Given the description of an element on the screen output the (x, y) to click on. 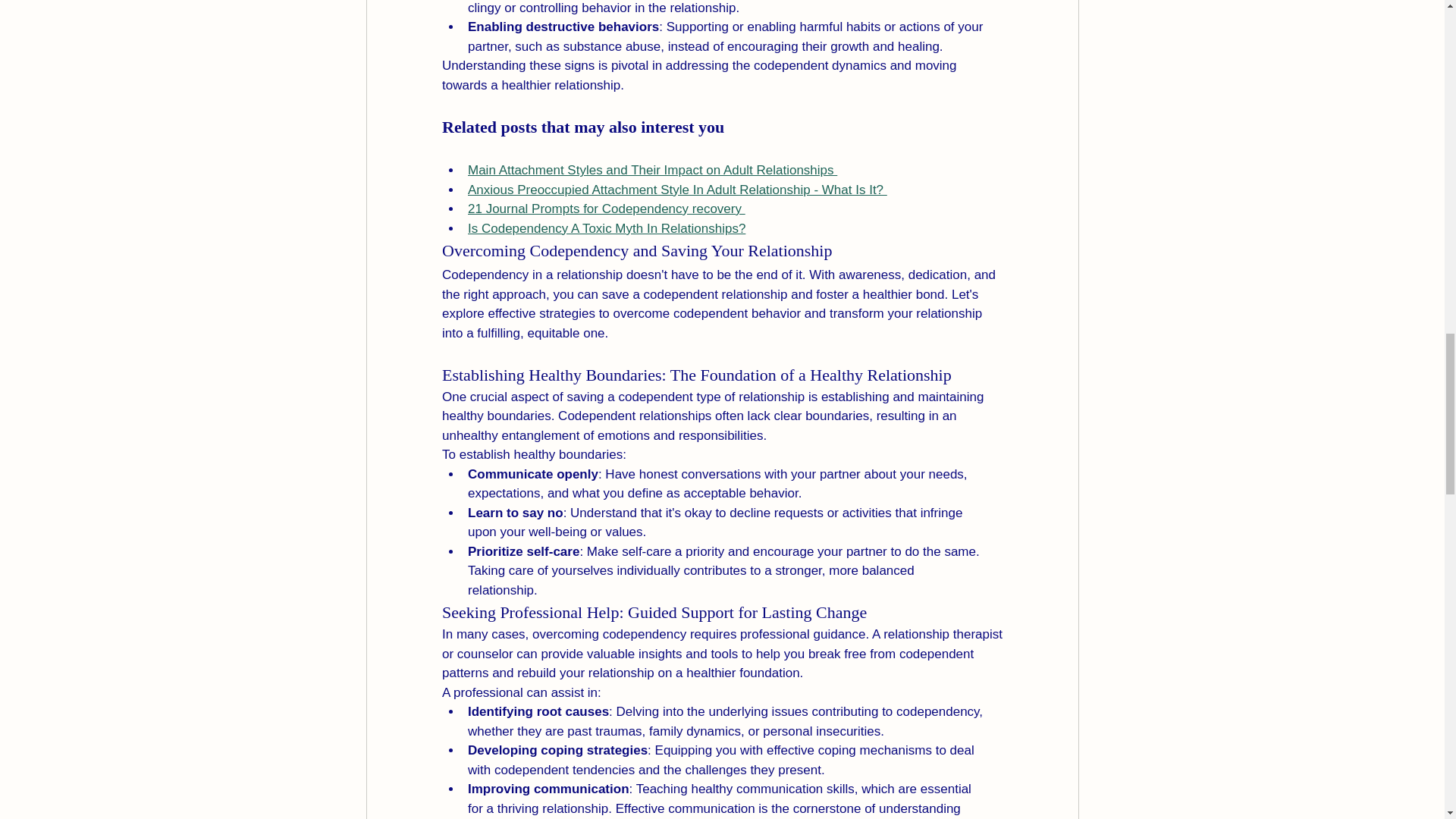
21 Journal Prompts for Codependency recovery  (605, 208)
Is Codependency A Toxic Myth In Relationships? (605, 228)
